Given the description of an element on the screen output the (x, y) to click on. 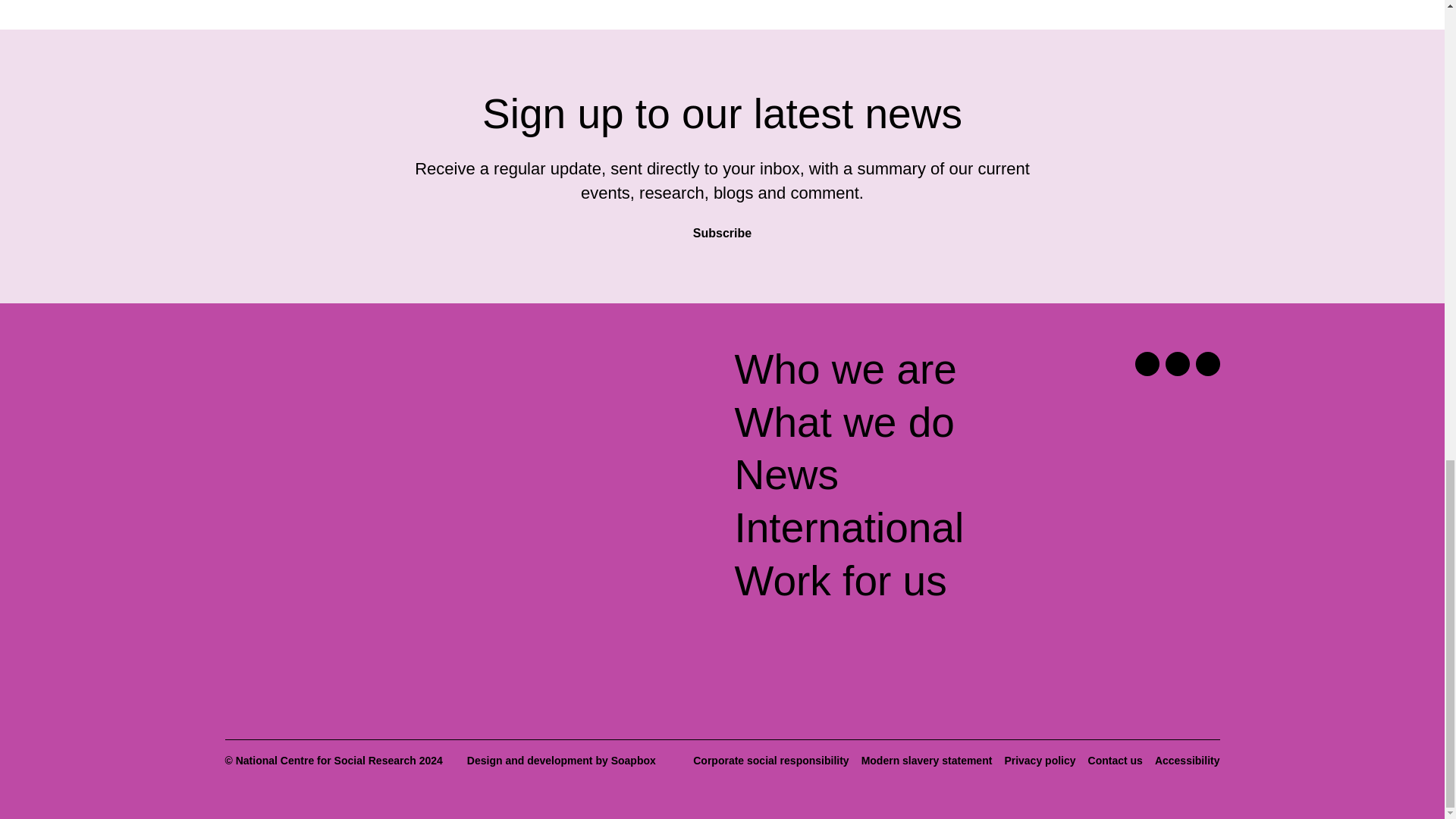
Twitter (1146, 363)
Return to the homepage (344, 376)
Linkedin (1176, 363)
Subscribe (722, 226)
What we do (843, 422)
Who we are (844, 369)
Youtube (1207, 363)
